Given the description of an element on the screen output the (x, y) to click on. 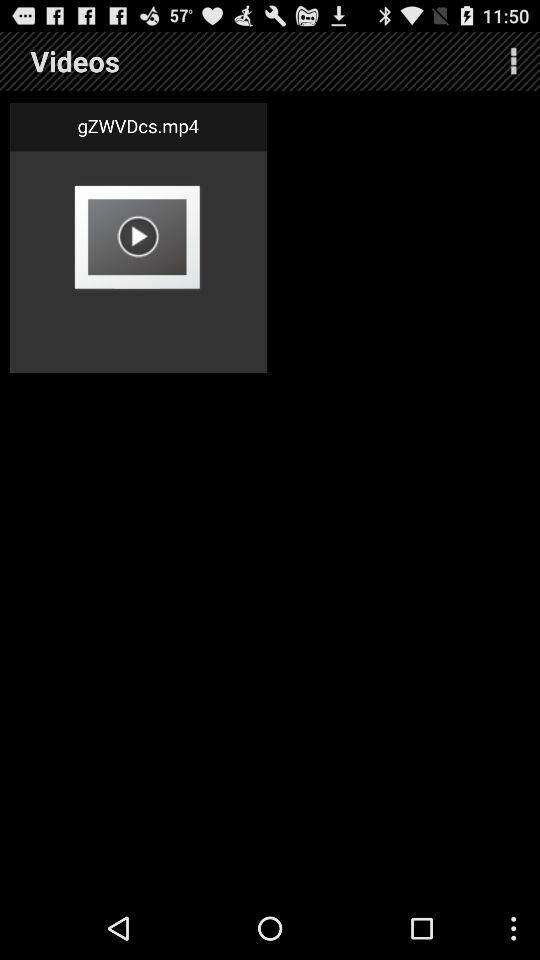
tap app to the right of the videos (513, 60)
